Given the description of an element on the screen output the (x, y) to click on. 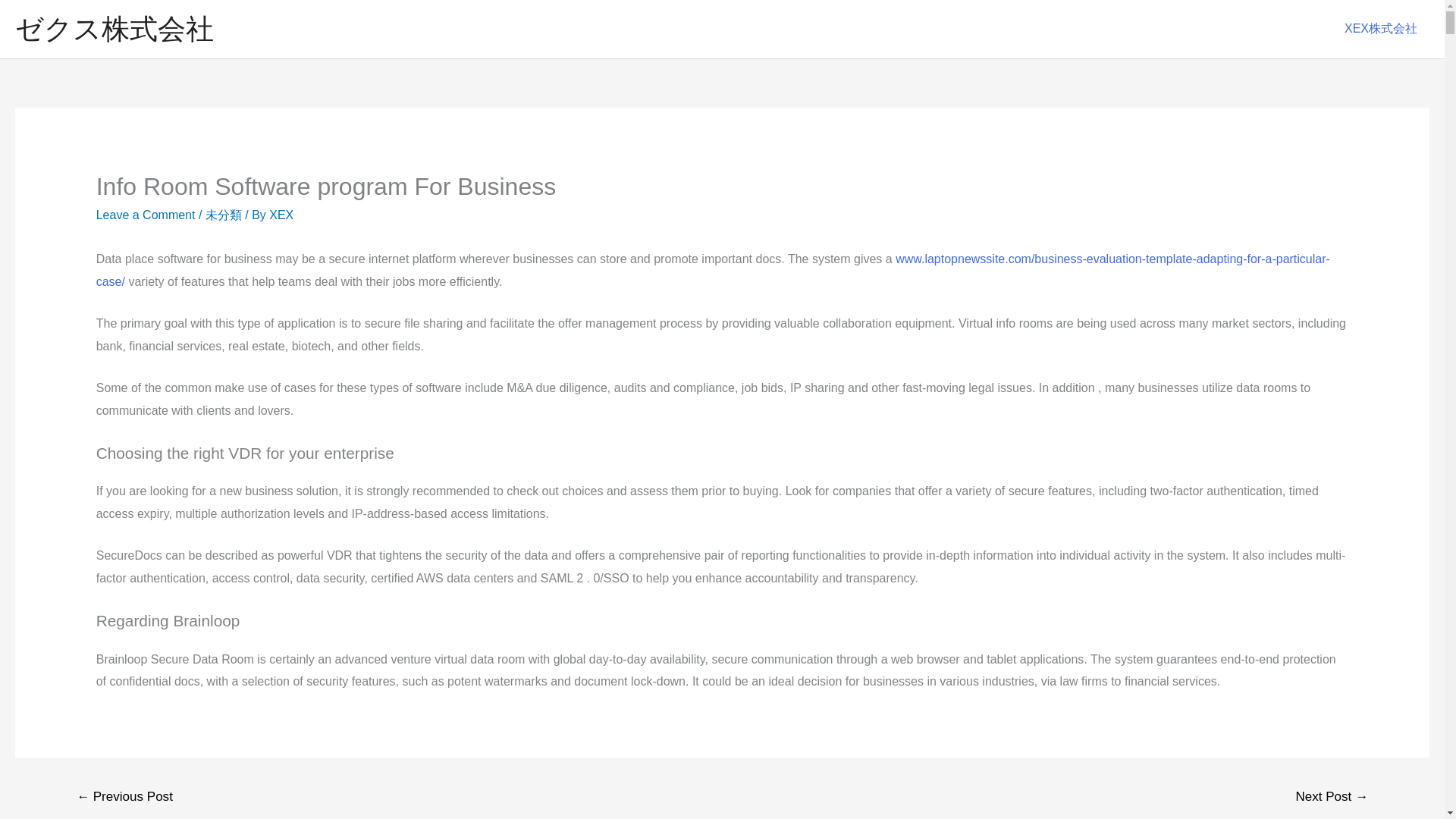
XEX (281, 214)
Leave a Comment (145, 214)
View all posts by XEX (281, 214)
